Given the description of an element on the screen output the (x, y) to click on. 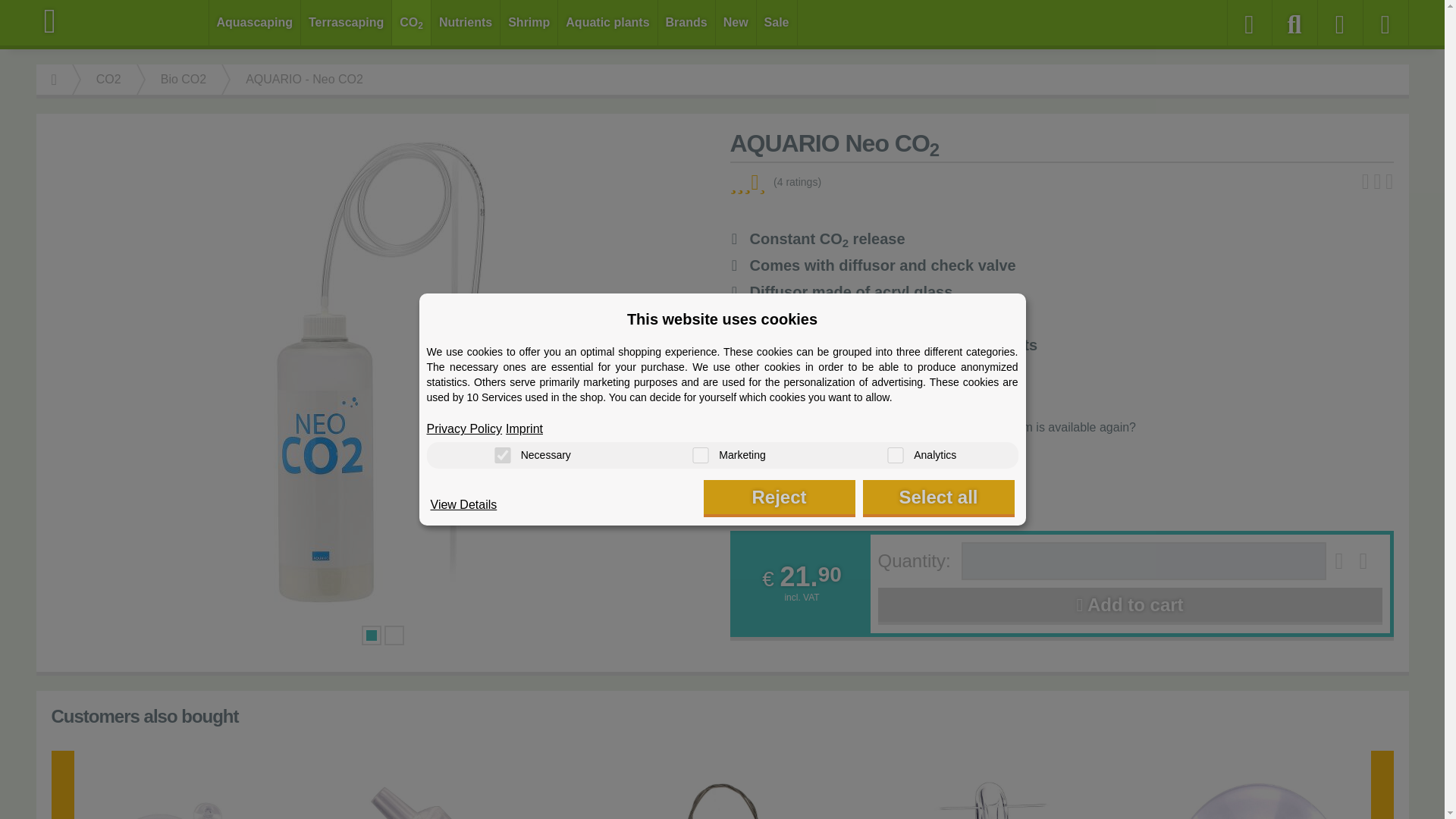
Aquascaping (254, 22)
on (501, 455)
on (699, 455)
on (895, 455)
Aquasabi (123, 21)
